Given the description of an element on the screen output the (x, y) to click on. 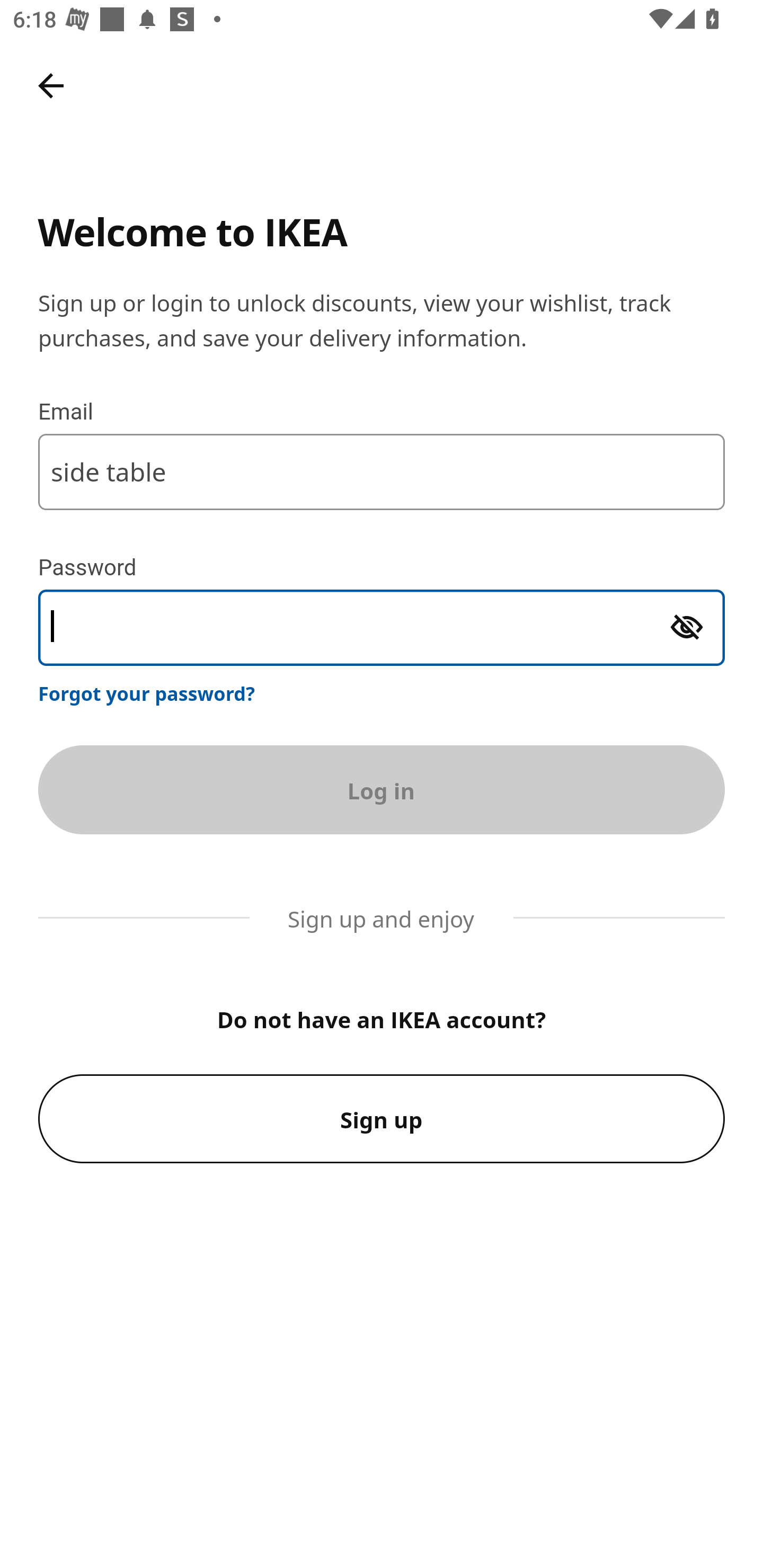
side table (381, 471)
Forgot your password? (146, 692)
Log in (381, 789)
Sign up (381, 1118)
